Given the description of an element on the screen output the (x, y) to click on. 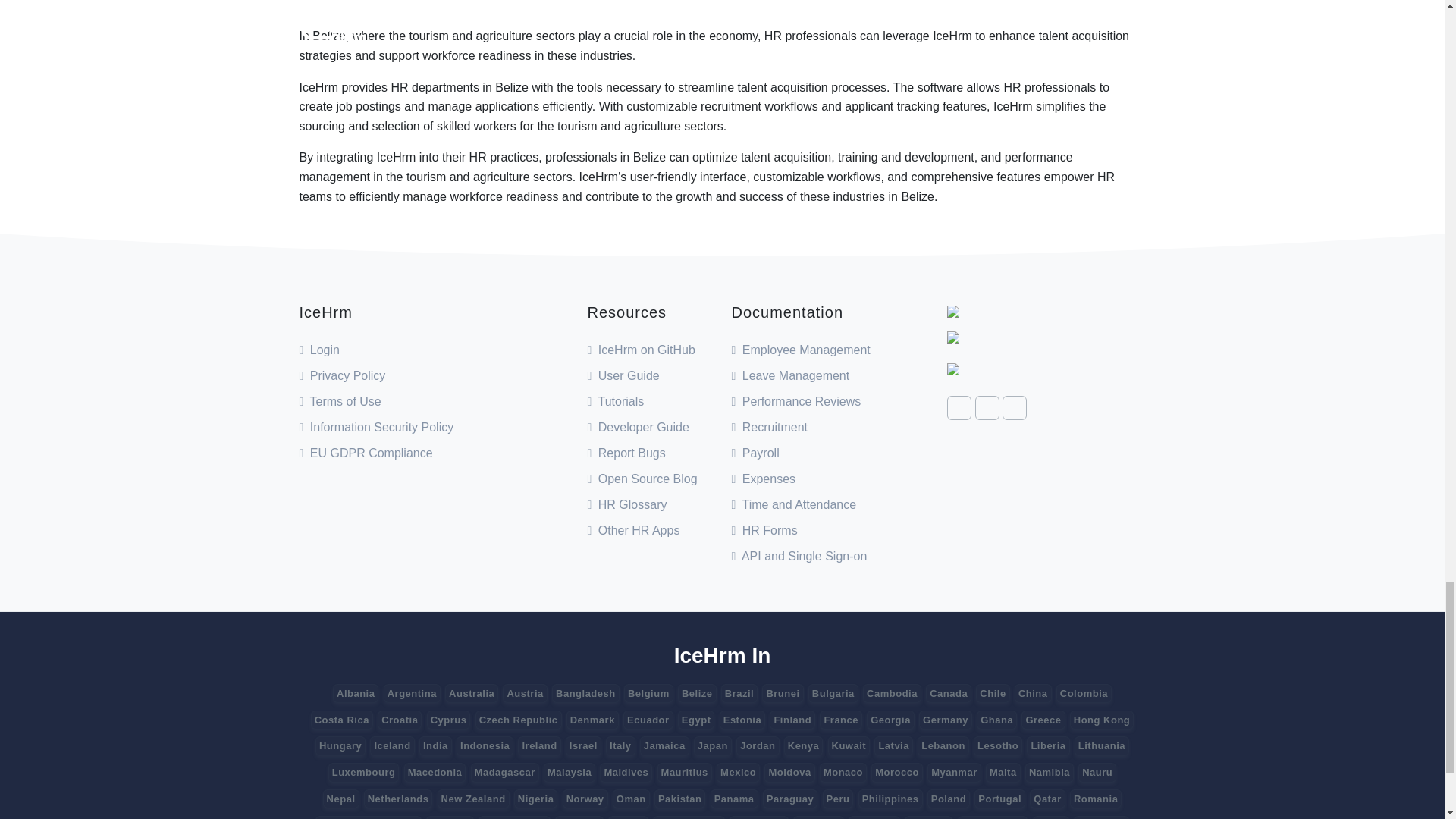
Terms of Use (339, 400)
EU GDPR Compliance (365, 452)
Information Security Policy (375, 427)
IceHrm on GitHub (640, 349)
Login (318, 349)
Privacy Policy (341, 375)
